Given the description of an element on the screen output the (x, y) to click on. 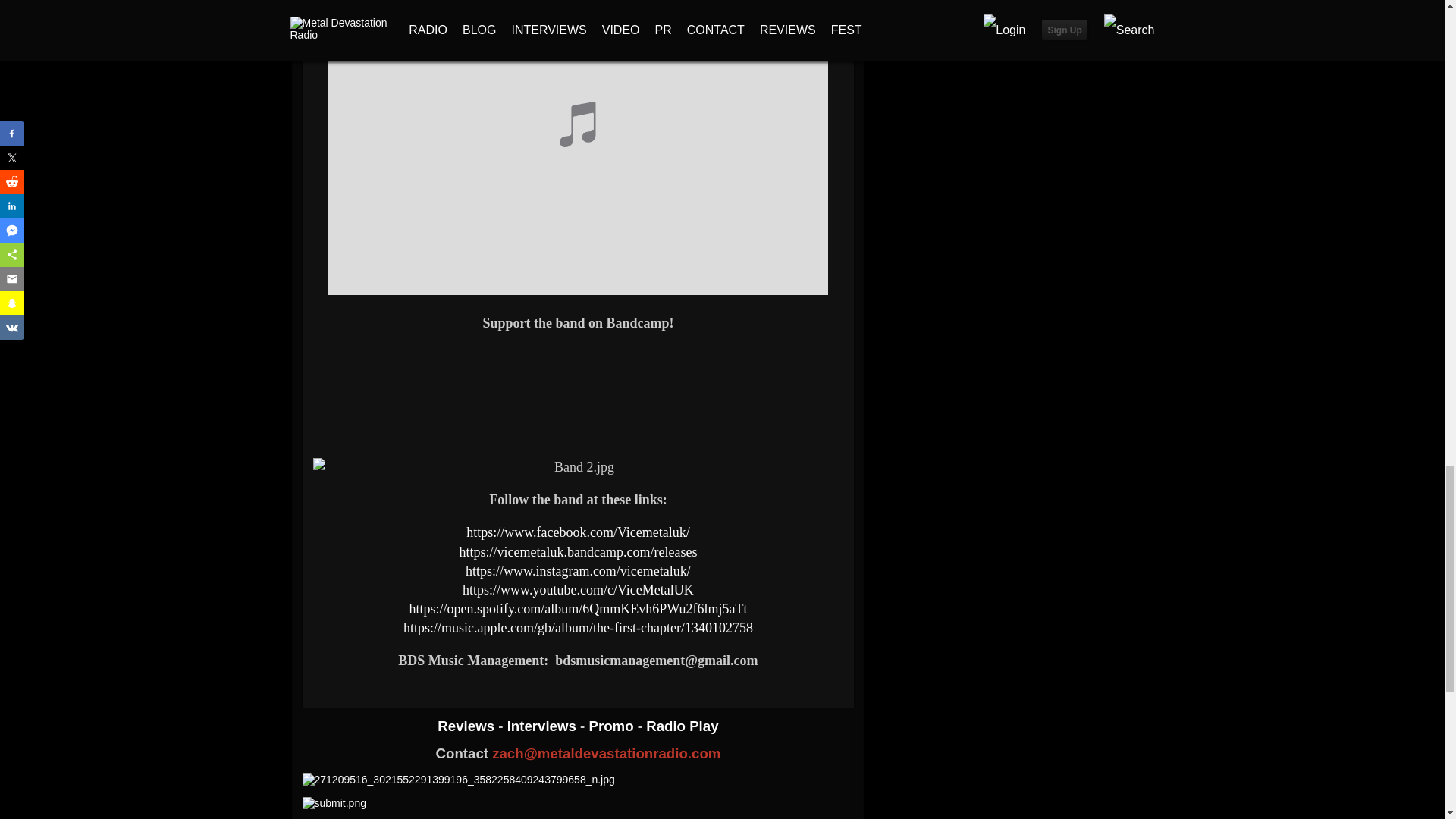
Promo (612, 725)
Reviews (467, 725)
Radio Play (681, 725)
Interviews (542, 725)
